Given the description of an element on the screen output the (x, y) to click on. 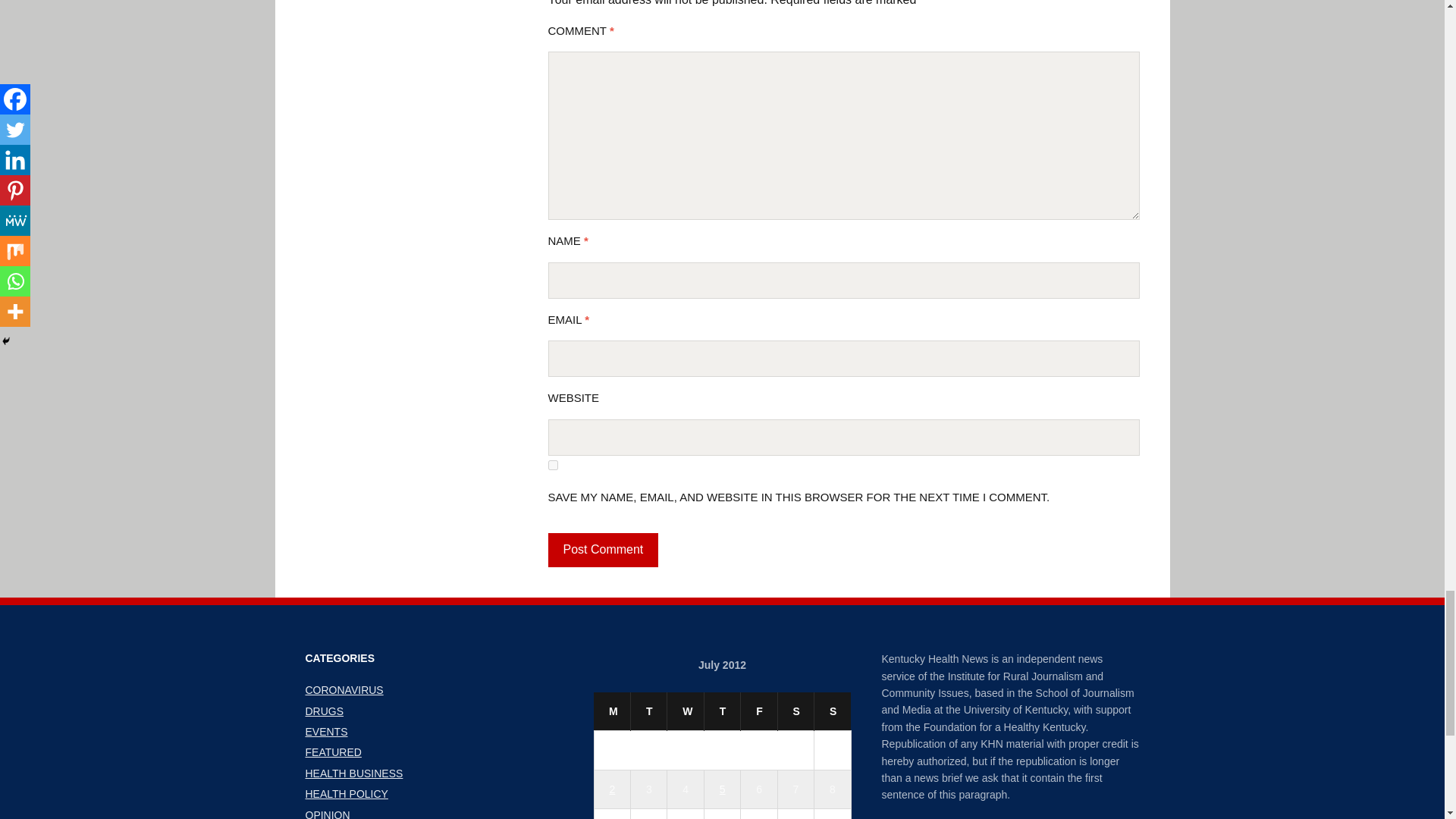
yes (552, 465)
Post Comment (602, 550)
